Given the description of an element on the screen output the (x, y) to click on. 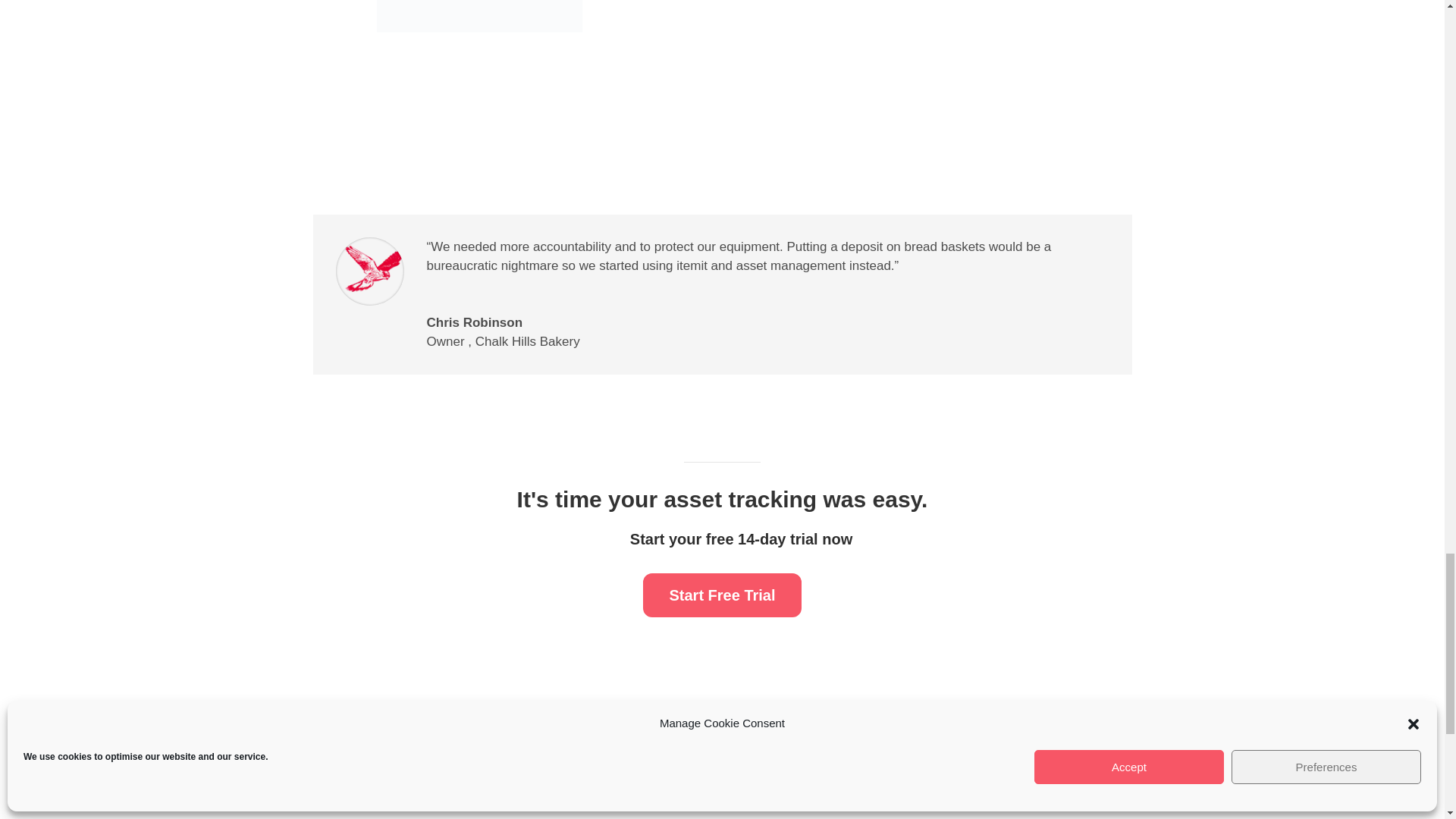
bread basket 2 (496, 49)
